Given the description of an element on the screen output the (x, y) to click on. 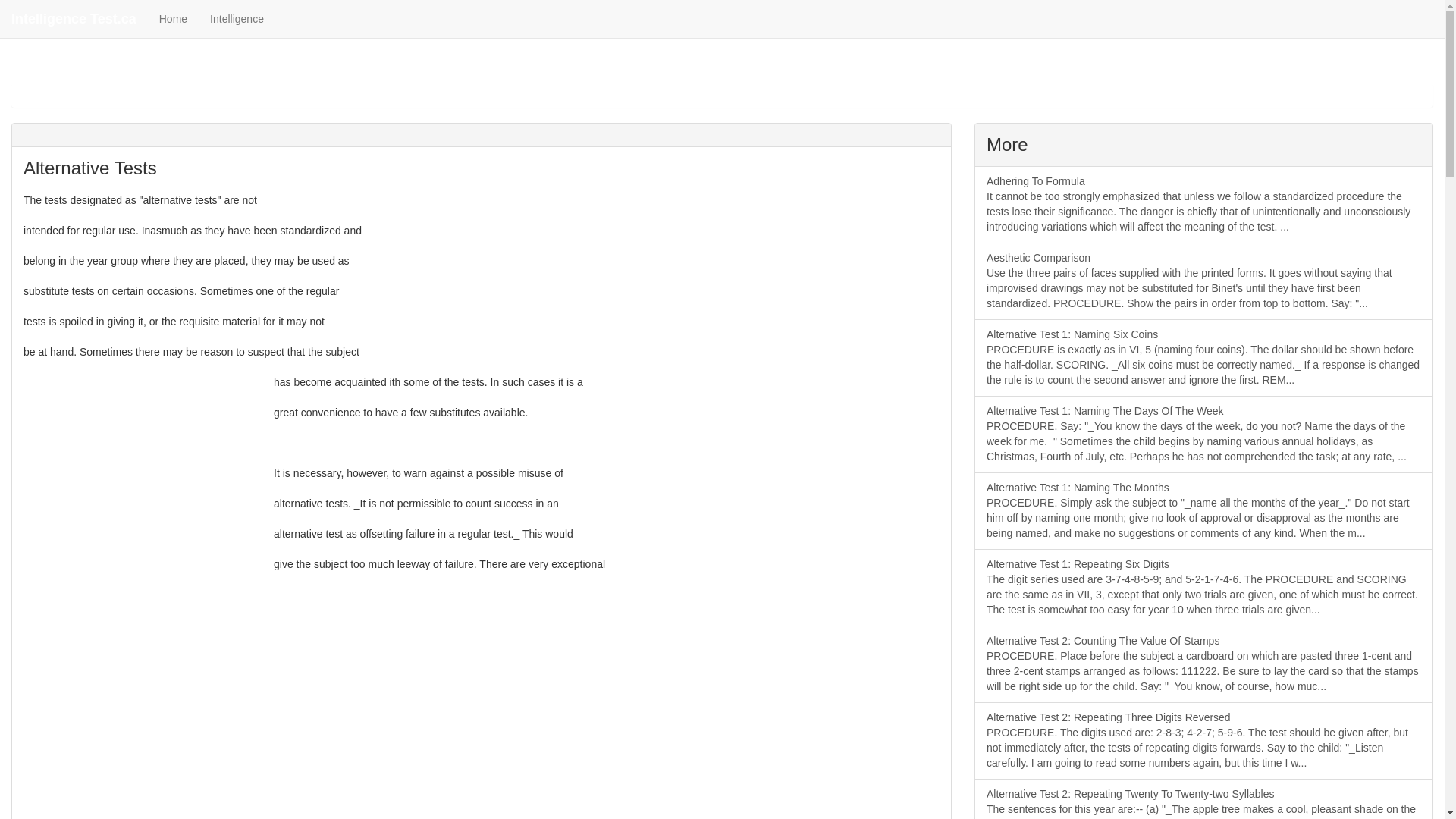
Intelligence (236, 18)
Home (173, 18)
Intelligence Test.ca (74, 18)
